Given the description of an element on the screen output the (x, y) to click on. 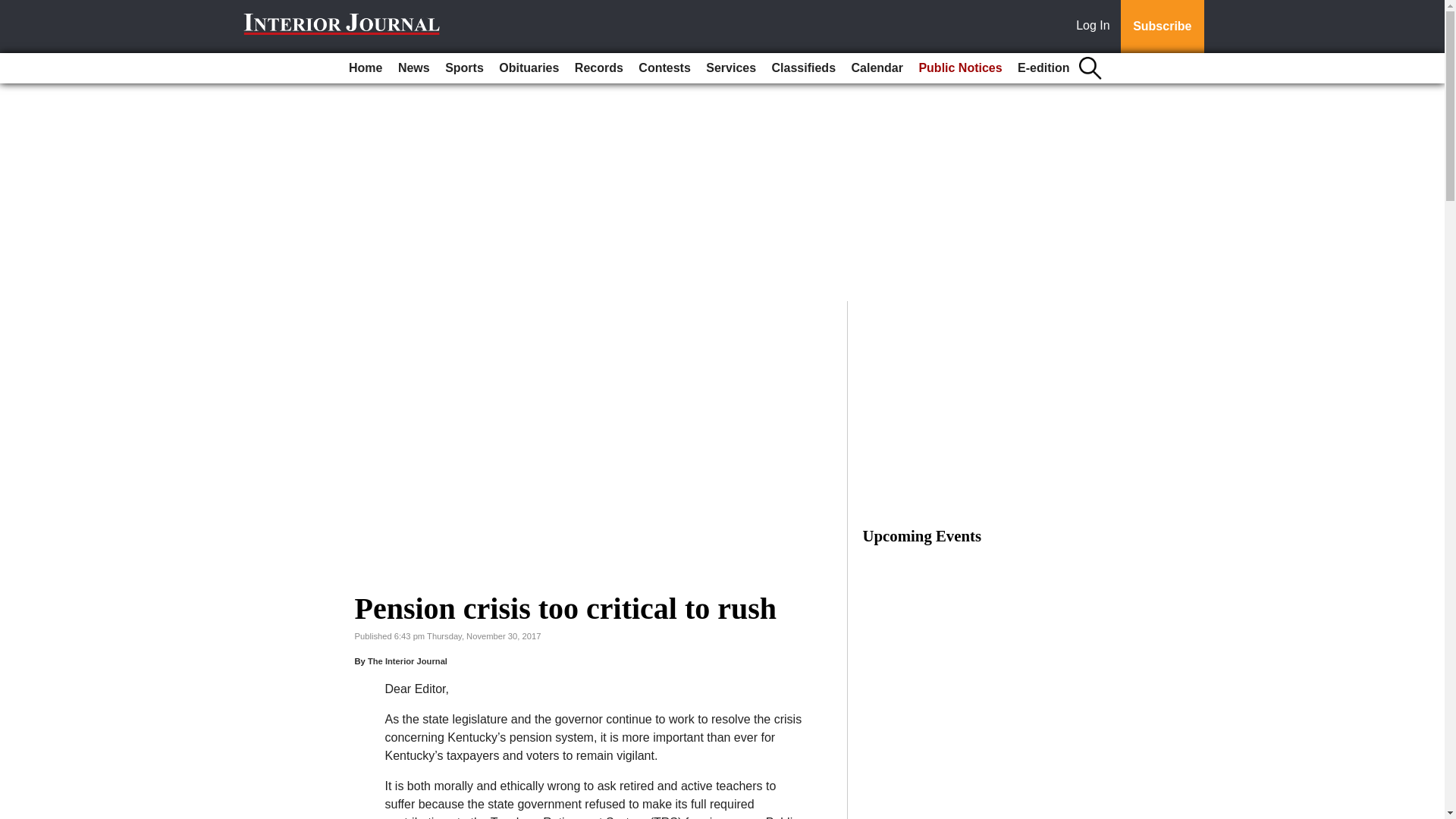
News (413, 68)
Home (365, 68)
Services (730, 68)
Obituaries (528, 68)
Contests (663, 68)
Log In (1095, 26)
Classifieds (803, 68)
Sports (464, 68)
Subscribe (1162, 26)
The Interior Journal (407, 660)
E-edition (1043, 68)
Public Notices (959, 68)
Records (598, 68)
Go (13, 9)
Calendar (876, 68)
